Given the description of an element on the screen output the (x, y) to click on. 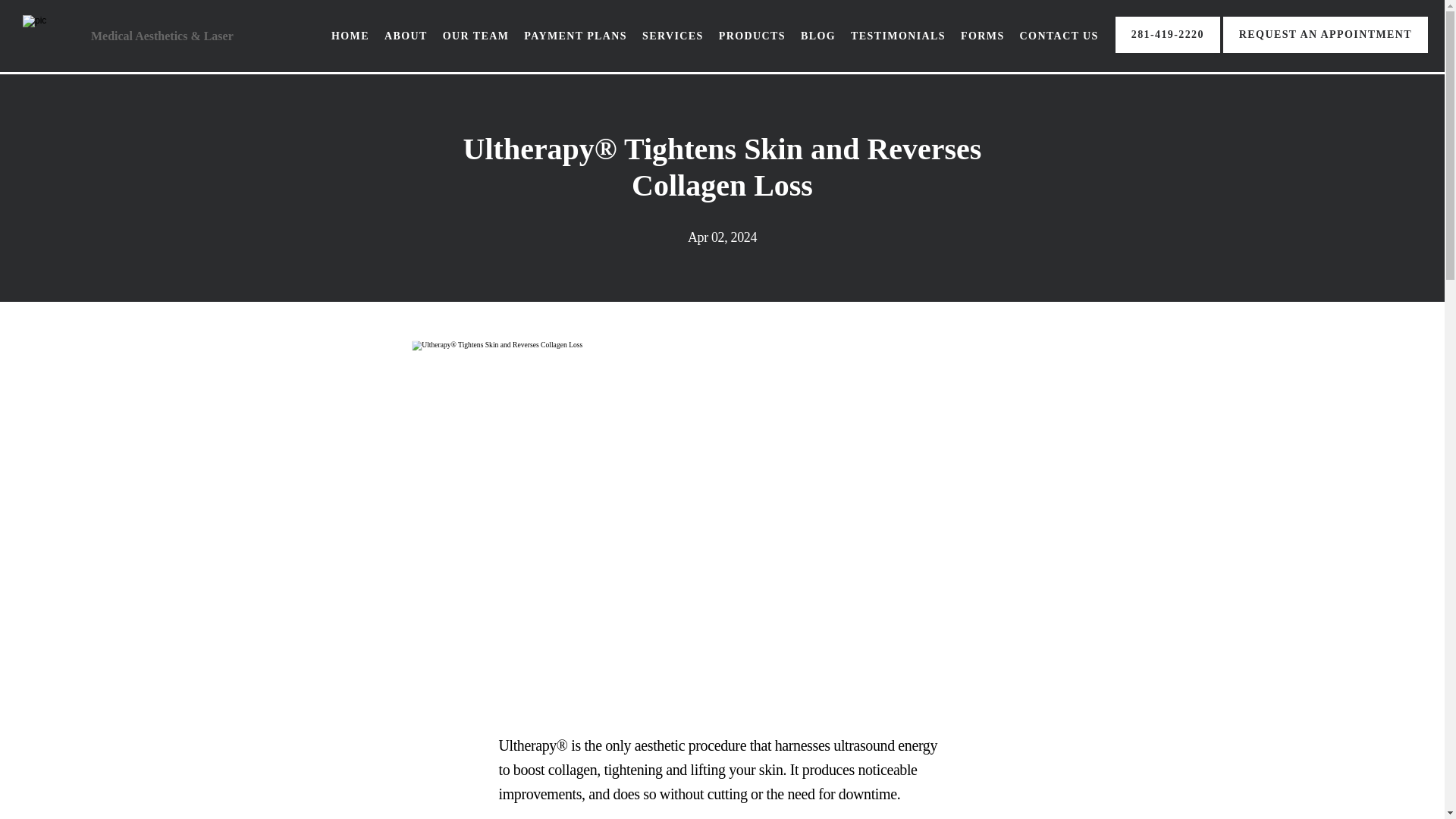
CONTACT US (1059, 35)
FORMS (982, 35)
281-419-2220 (1167, 50)
OUR TEAM (475, 35)
HOME (350, 35)
PRODUCTS (752, 35)
BLOG (817, 35)
ABOUT (406, 35)
SERVICES (672, 35)
REQUEST AN APPOINTMENT (1325, 50)
